Given the description of an element on the screen output the (x, y) to click on. 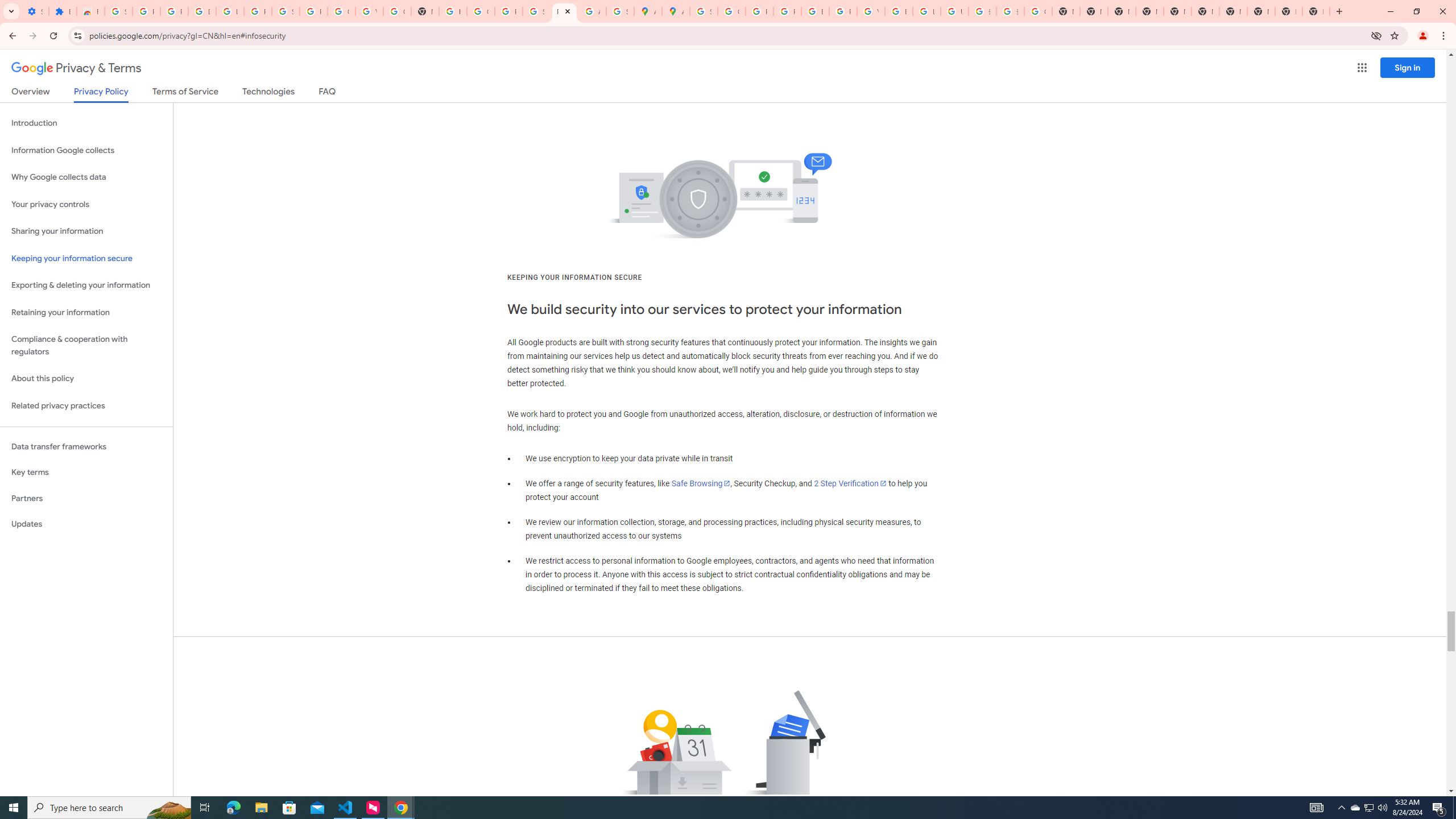
Exporting & deleting your information (86, 284)
Safe Browsing (700, 483)
Sign in - Google Accounts (118, 11)
Delete photos & videos - Computer - Google Photos Help (202, 11)
